Given the description of an element on the screen output the (x, y) to click on. 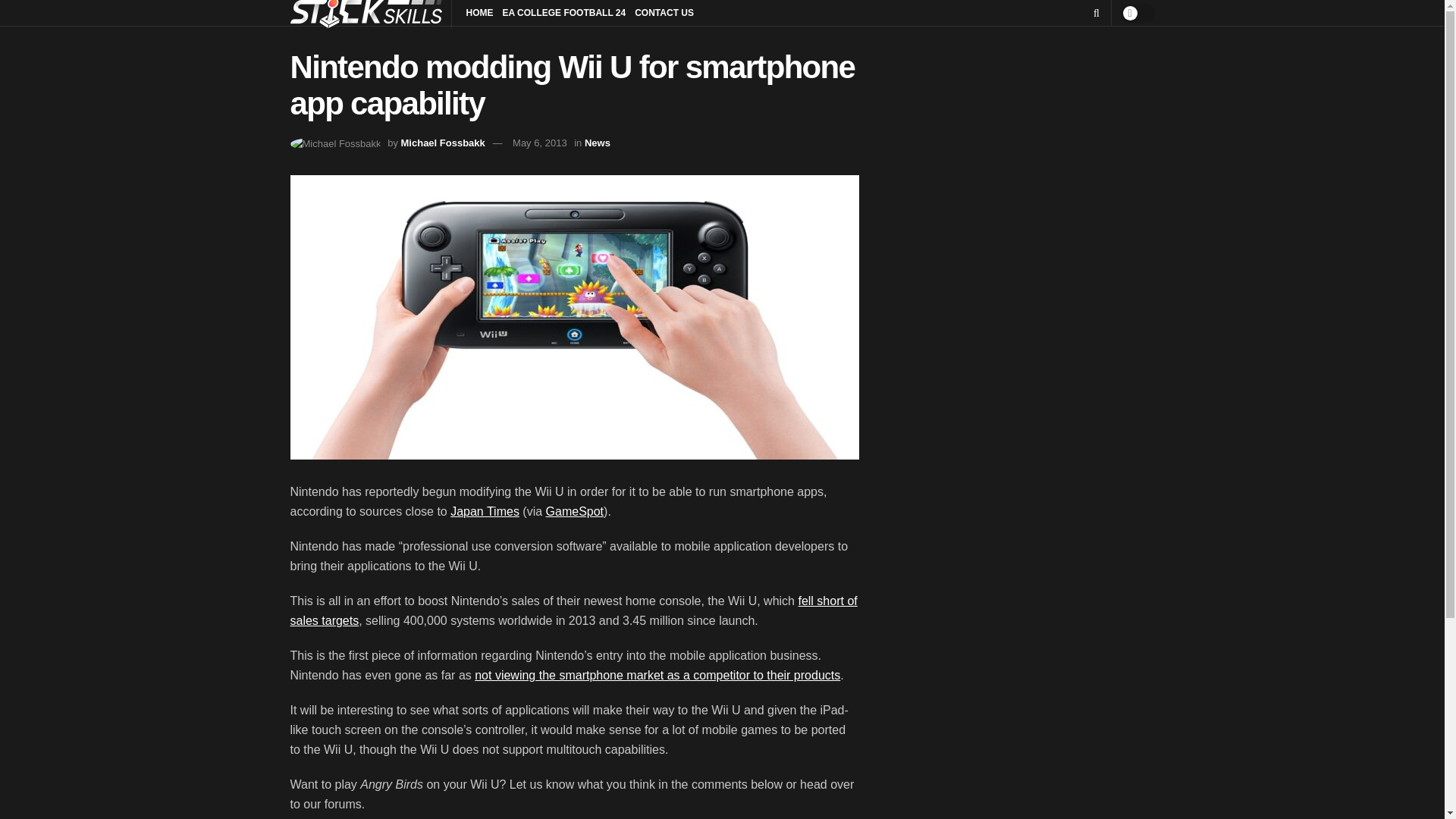
GameSpot (575, 511)
Japan Times (484, 511)
EA COLLEGE FOOTBALL 24 (564, 12)
News (597, 142)
CONTACT US (664, 12)
fell short of sales targets (573, 610)
May 6, 2013 (539, 142)
Michael Fossbakk (442, 142)
HOME (479, 12)
